Given the description of an element on the screen output the (x, y) to click on. 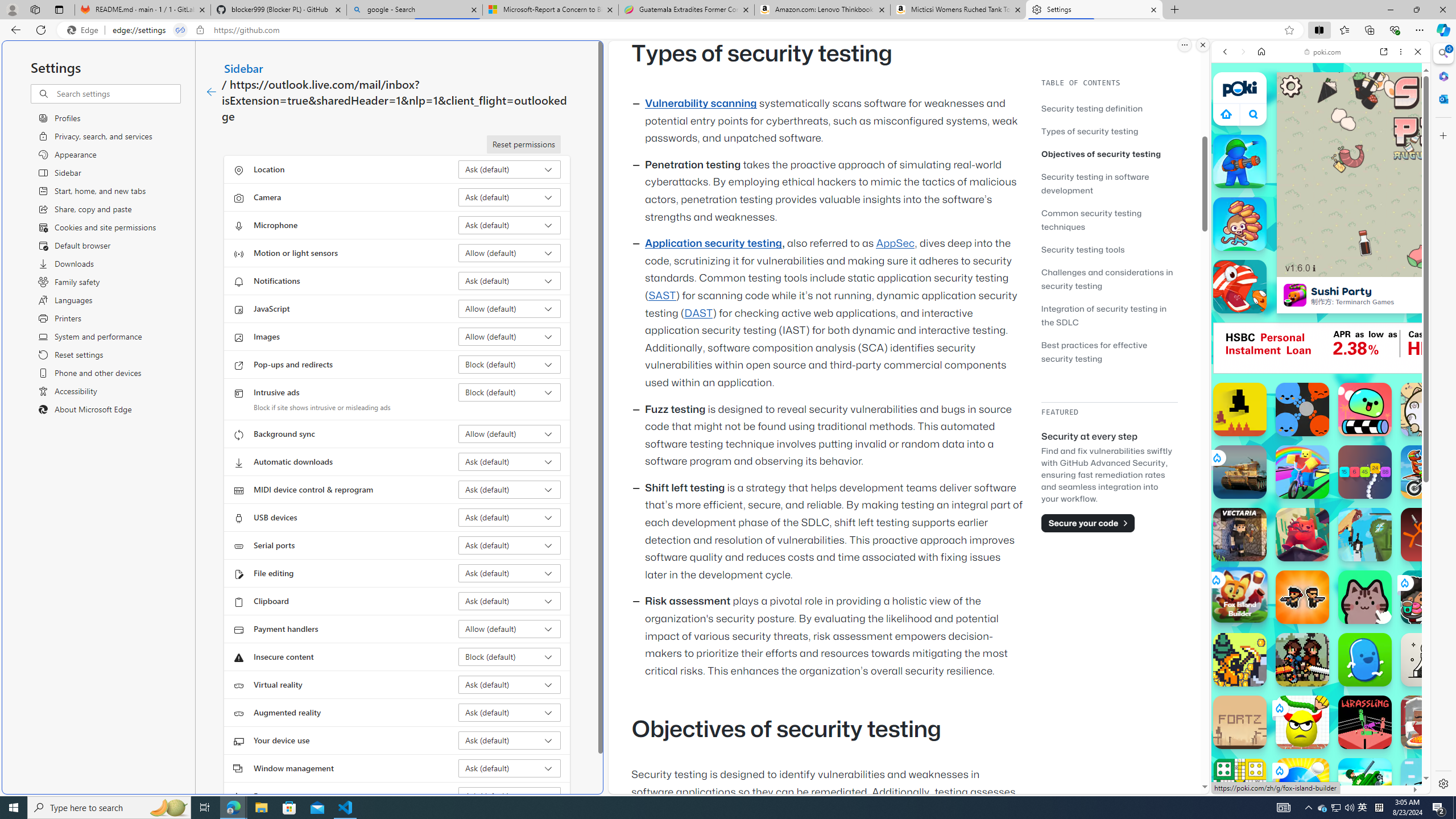
SUBWAY SURFERS - Play Online for Free! | Poki (1315, 765)
Draw To Smash: Logic Puzzle (1302, 722)
Level Devil Level Devil (1239, 409)
Tiger Tank Tiger Tank (1239, 471)
Shooting Games (1320, 295)
Integration of security testing in the SDLC (1104, 314)
Hills of Steel (1364, 784)
Best practices for effective security testing (1094, 351)
